Given the description of an element on the screen output the (x, y) to click on. 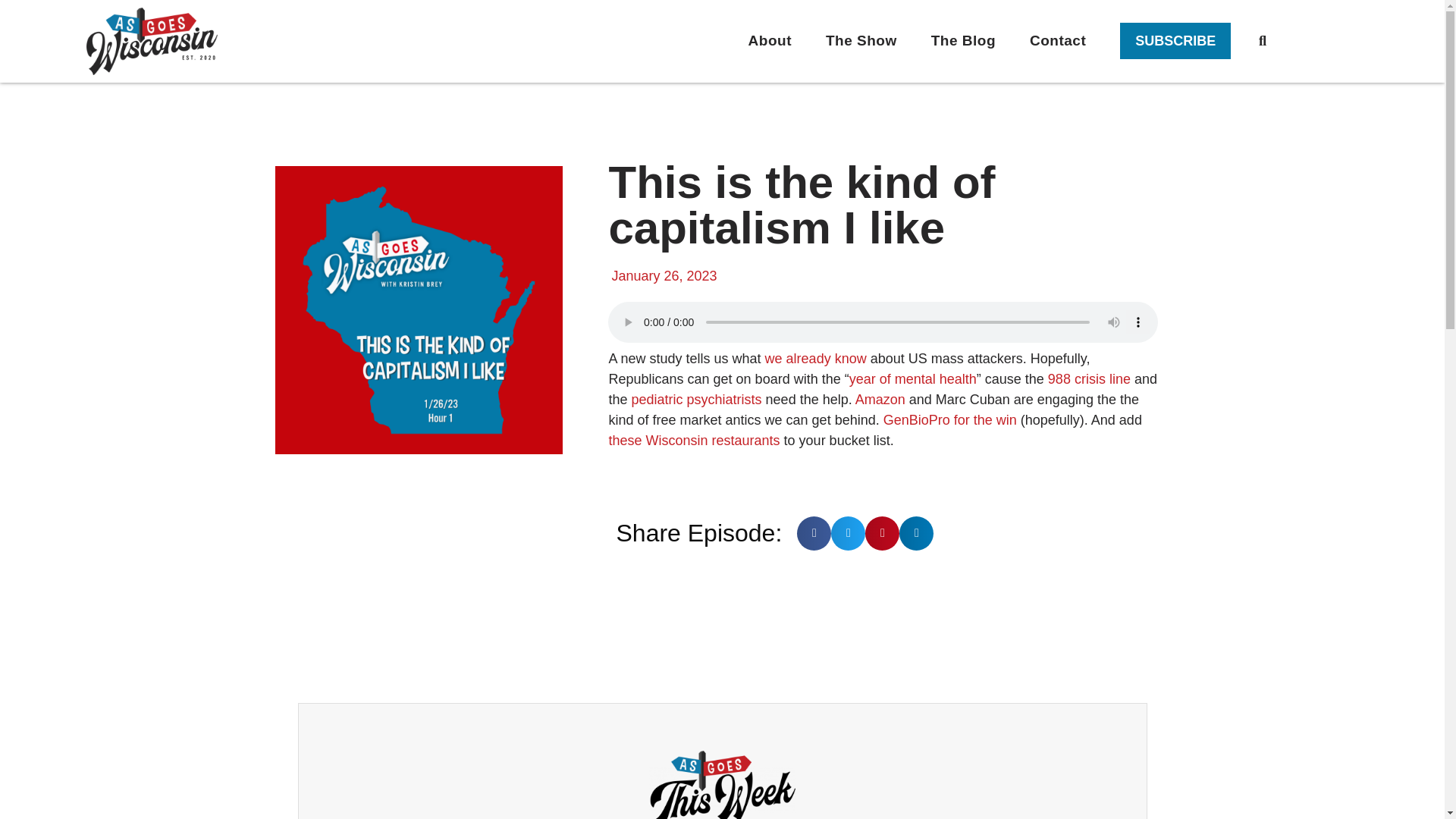
GenBioPro for the win (949, 419)
we already know (815, 358)
Contact (1057, 40)
SUBSCRIBE (1174, 40)
these Wisconsin restaurants (693, 440)
The Blog (963, 40)
988 crisis line (1089, 378)
About (770, 40)
Amazon (880, 399)
year of mental health (912, 378)
The Show (861, 40)
pediatric psychiatrists (698, 399)
